Given the description of an element on the screen output the (x, y) to click on. 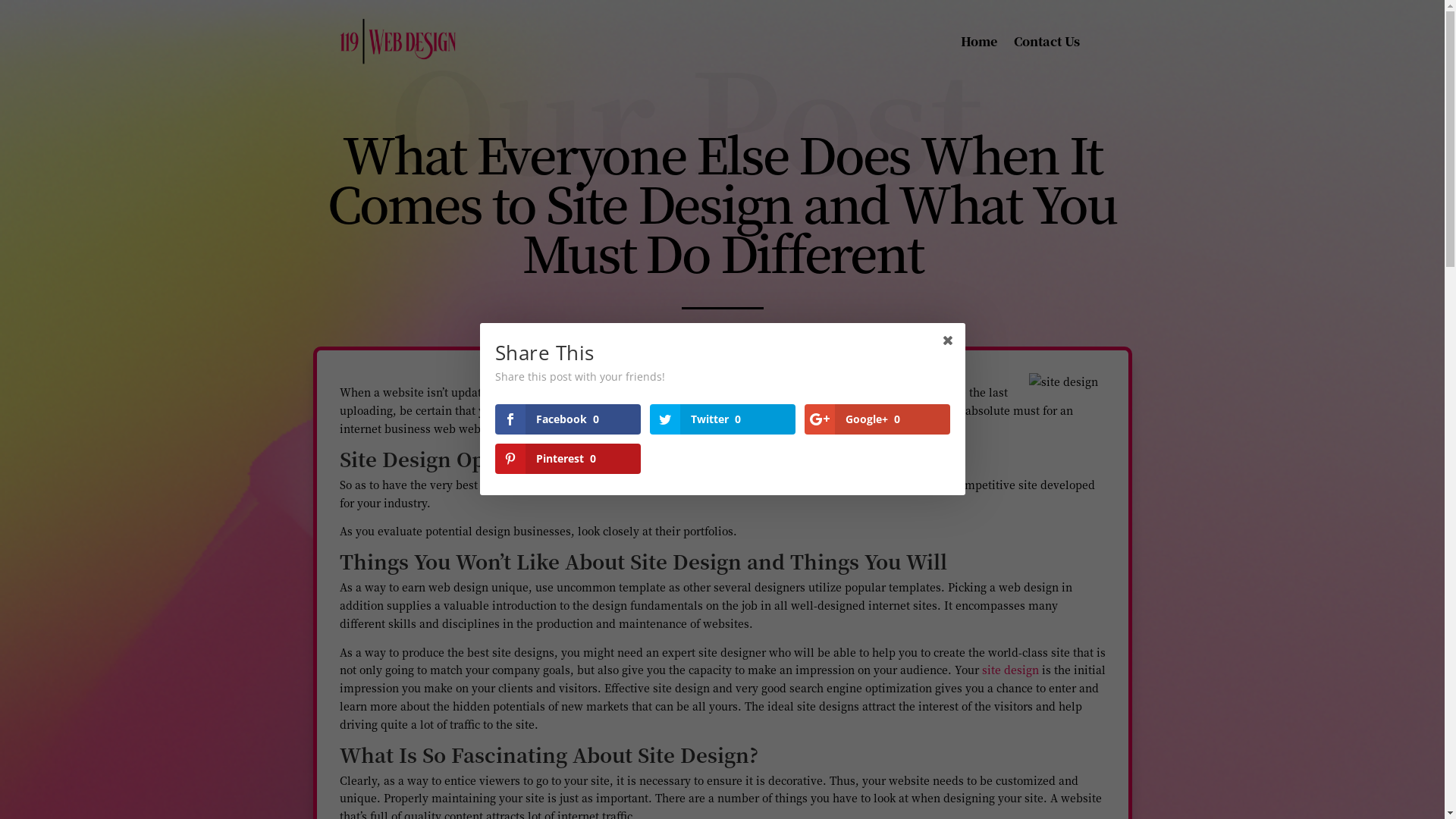
Facebook 0 Element type: text (567, 419)
web design Element type: text (818, 484)
Twitter 0 Element type: text (721, 419)
Google+ 0 Element type: text (876, 419)
Home Element type: text (978, 44)
Pinterest 0 Element type: text (567, 458)
Contact Us Element type: text (1046, 44)
site design Element type: text (1009, 669)
